Given the description of an element on the screen output the (x, y) to click on. 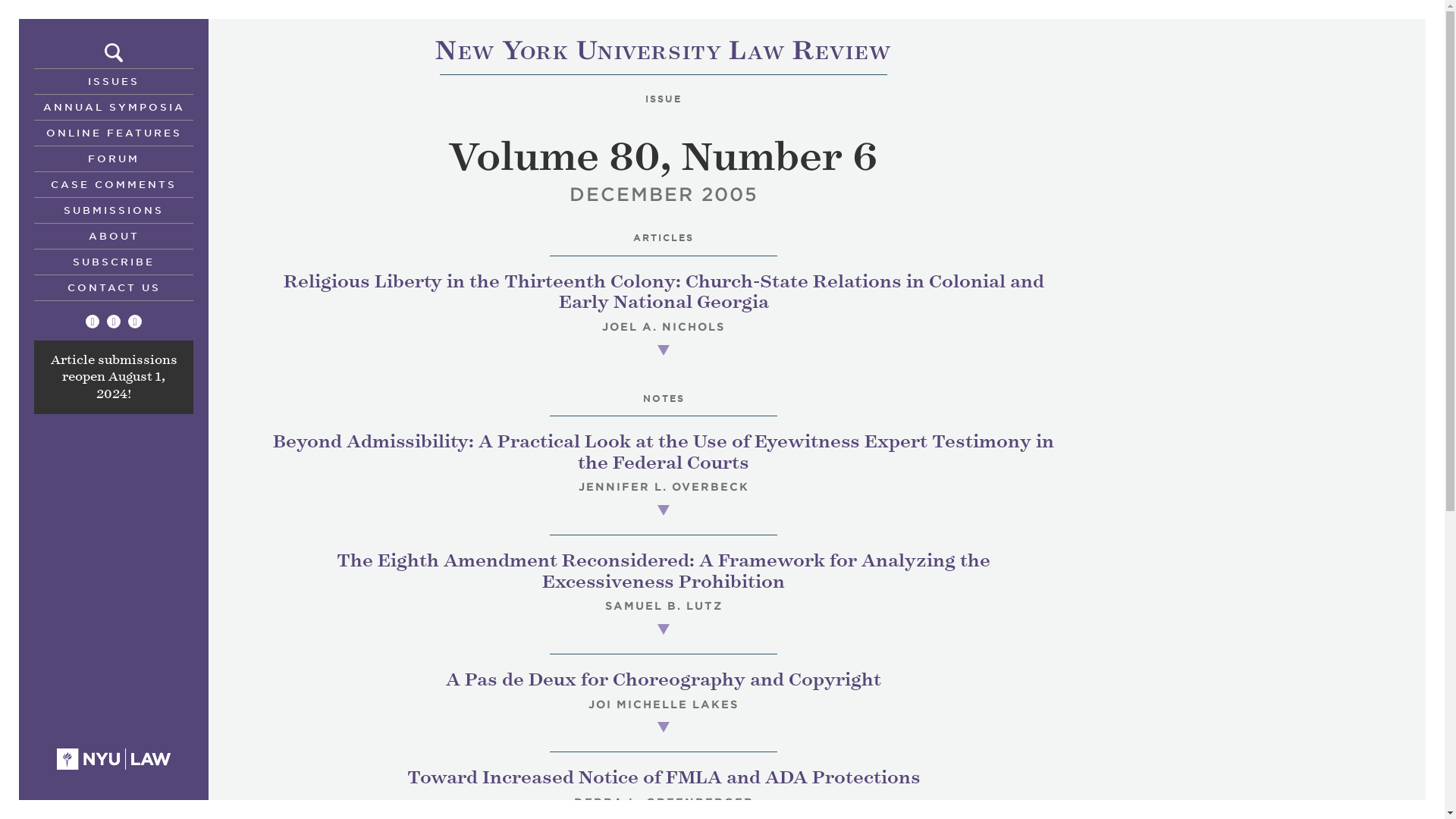
JENNIFER L. OVERBECK (663, 486)
Toward Increased Notice of FMLA and ADA Protections (663, 777)
JOEL A. NICHOLS (663, 326)
SAMUEL B. LUTZ (663, 605)
JOI MICHELLE LAKES (663, 704)
Linkedin (663, 52)
A Pas de Deux for Choreography and Copyright (134, 321)
DEBRA L. GREENBERGER (662, 680)
Facebook (662, 802)
Twitter (113, 321)
